Given the description of an element on the screen output the (x, y) to click on. 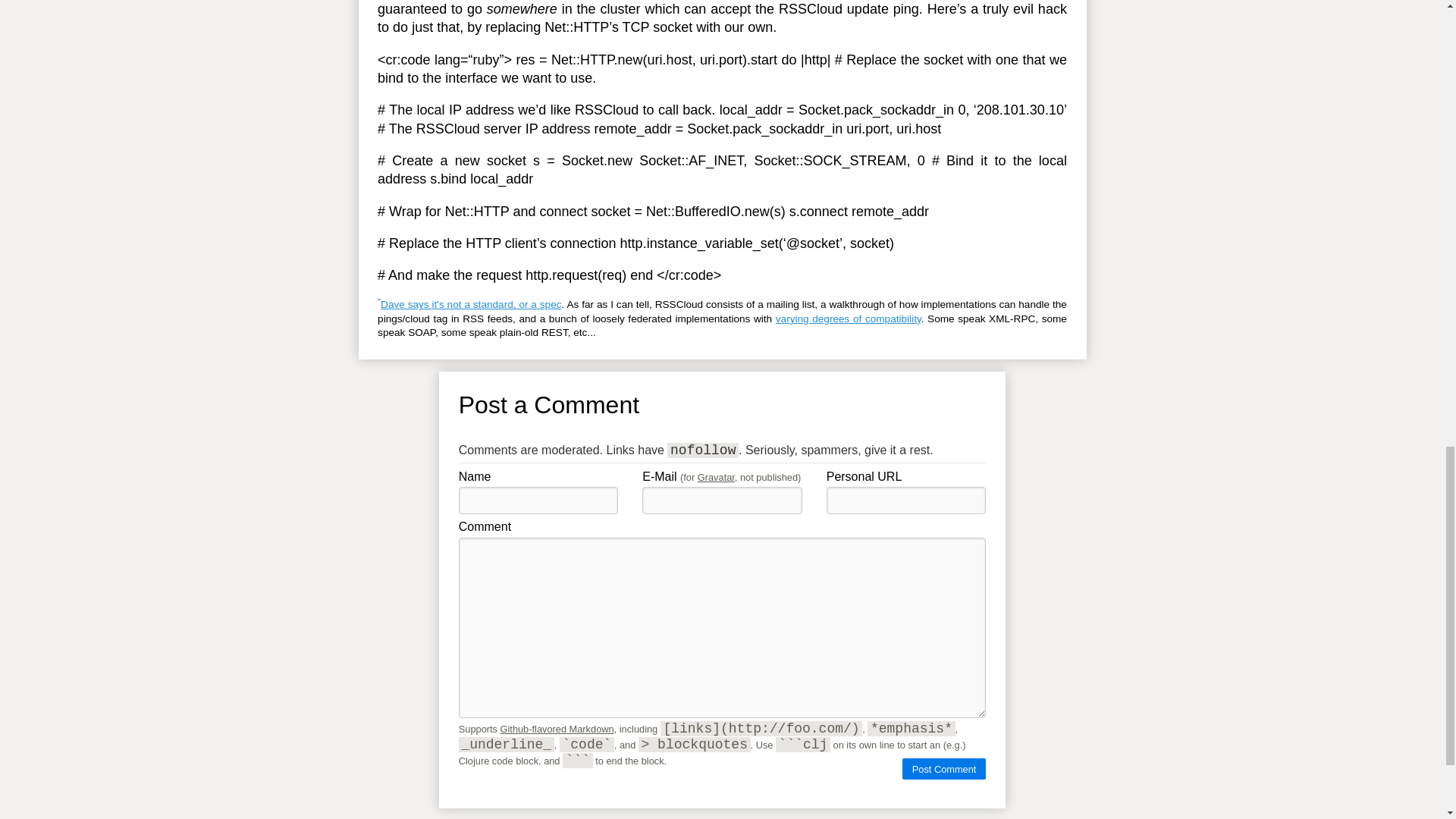
Github-flavored Markdown (557, 728)
Dave says it's not a standard, or a spec (470, 304)
Post Comment (943, 768)
Post Comment (943, 768)
varying degrees of compatibility (848, 318)
Gravatar (716, 477)
